Given the description of an element on the screen output the (x, y) to click on. 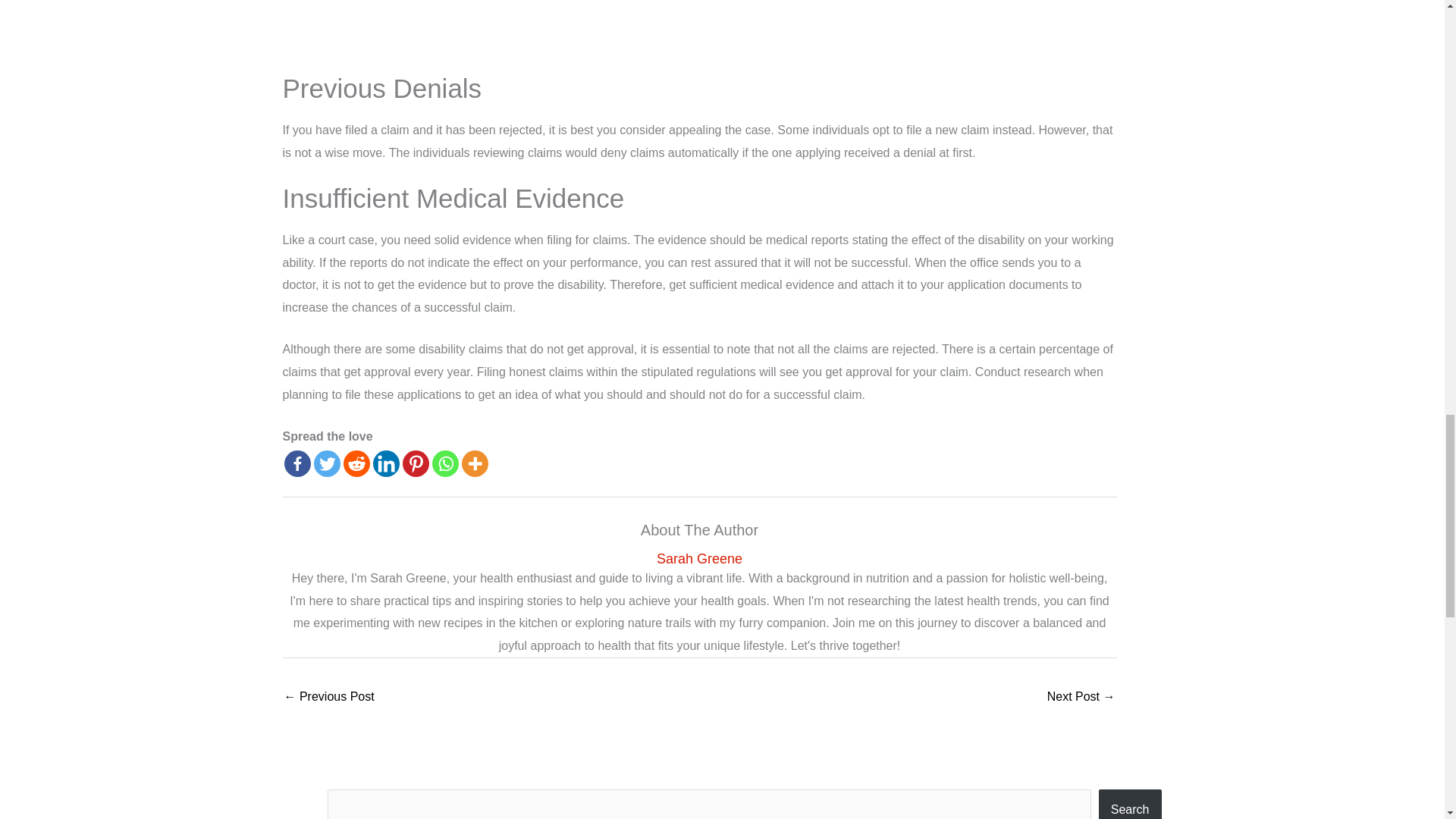
Whatsapp (445, 463)
Linkedin (385, 463)
person looking sad because of a denied claim (699, 27)
Reddit (355, 463)
What Most People Don't Tell You About Ear Pinning (328, 697)
Pinterest (414, 463)
Twitter (327, 463)
Search (1130, 804)
Facebook (296, 463)
Sarah Greene (699, 559)
